Given the description of an element on the screen output the (x, y) to click on. 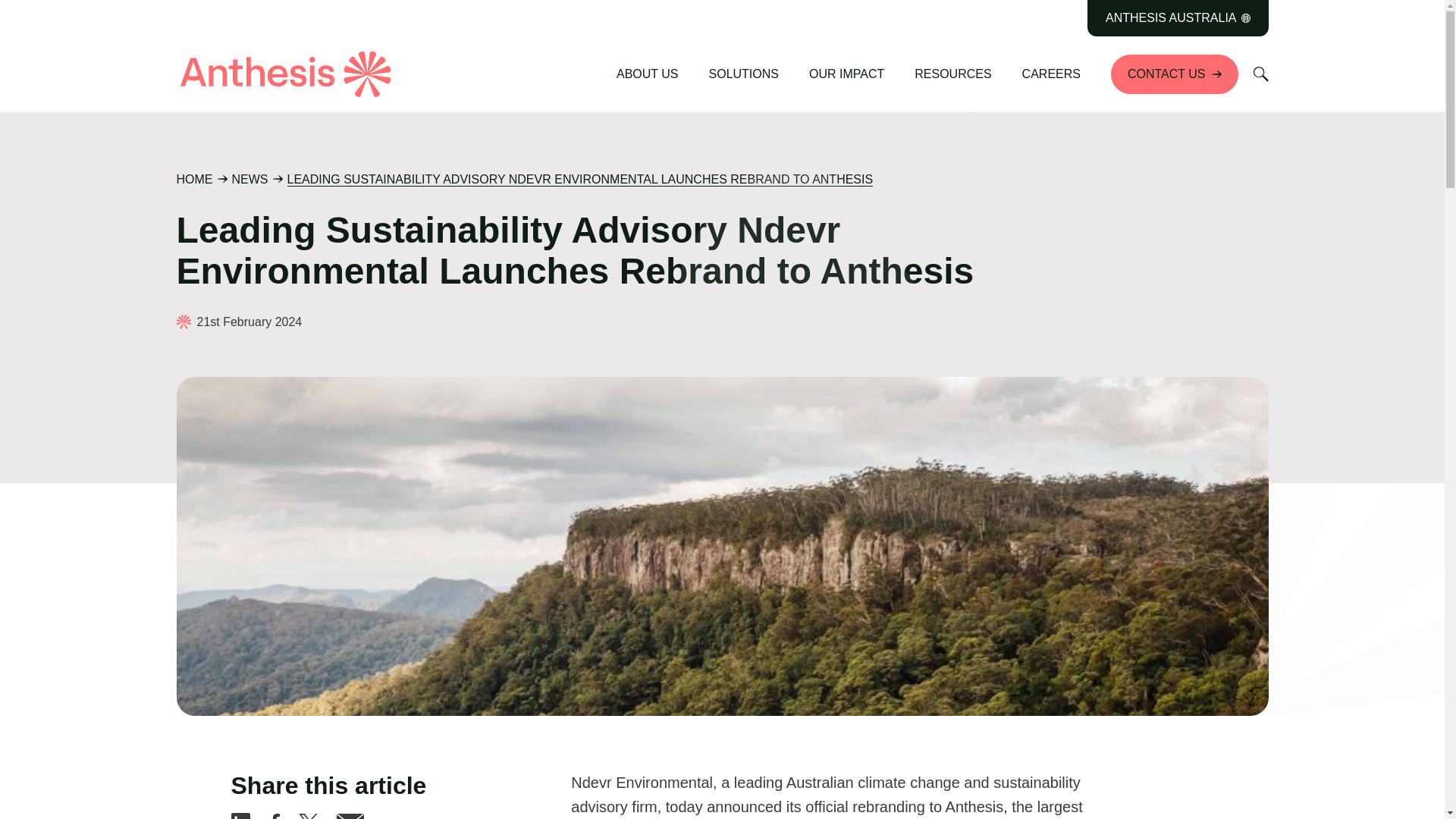
ABOUT US (647, 74)
SOLUTIONS (743, 74)
ANTHESIS AUSTRALIA (1177, 18)
